Given the description of an element on the screen output the (x, y) to click on. 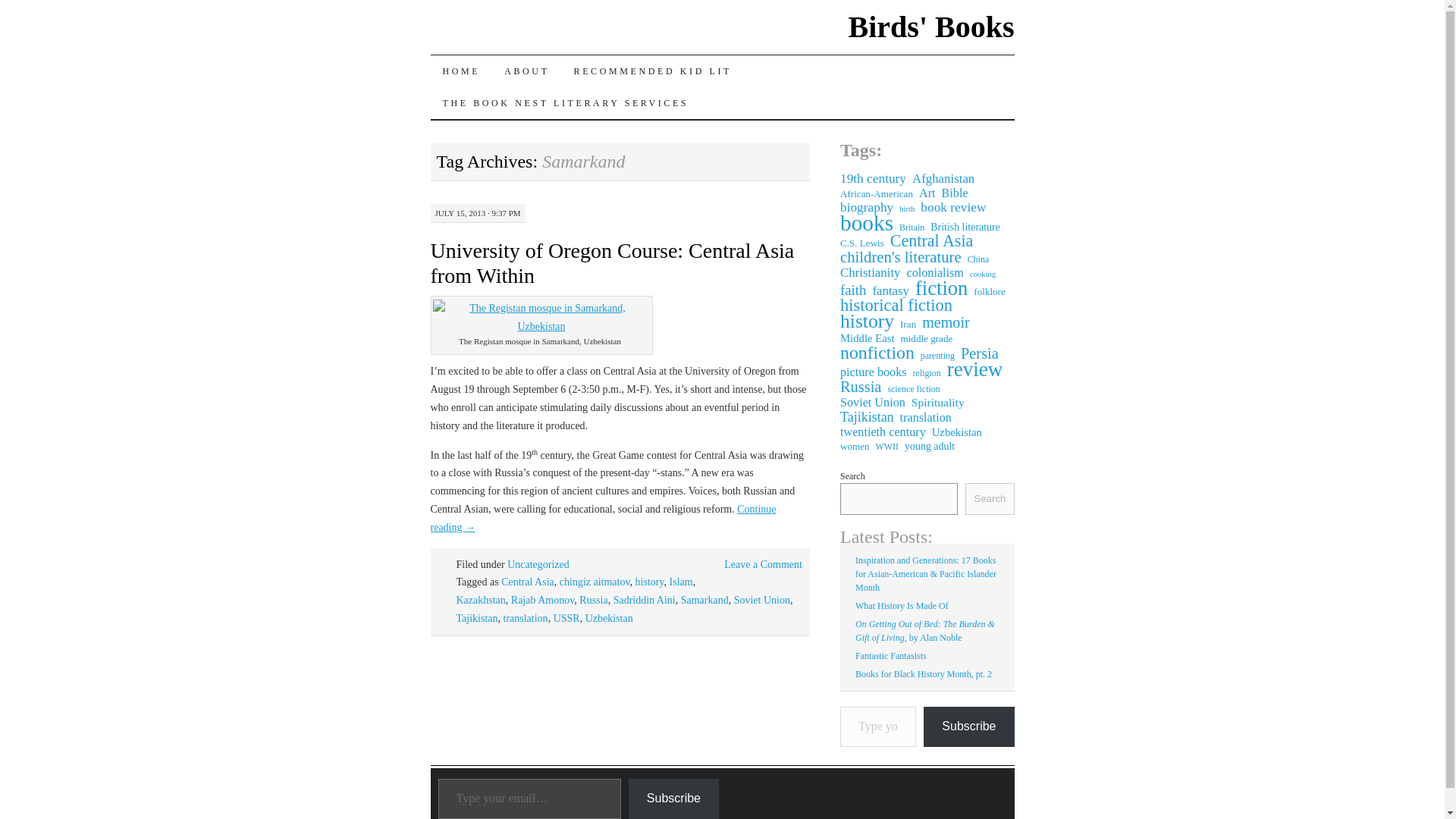
RECOMMENDED KID LIT (653, 70)
Soviet Union (761, 600)
chingiz aitmatov (594, 582)
University of Oregon Course: Central Asia from Within (612, 263)
Britain (911, 227)
Rajab Amonov (542, 600)
HOME (461, 70)
19th century (872, 178)
Art (927, 192)
British literature (965, 227)
Islam (681, 582)
ABOUT (526, 70)
Sadriddin Aini (643, 600)
THE BOOK NEST LITERARY SERVICES (565, 102)
Central Asia (930, 241)
